Given the description of an element on the screen output the (x, y) to click on. 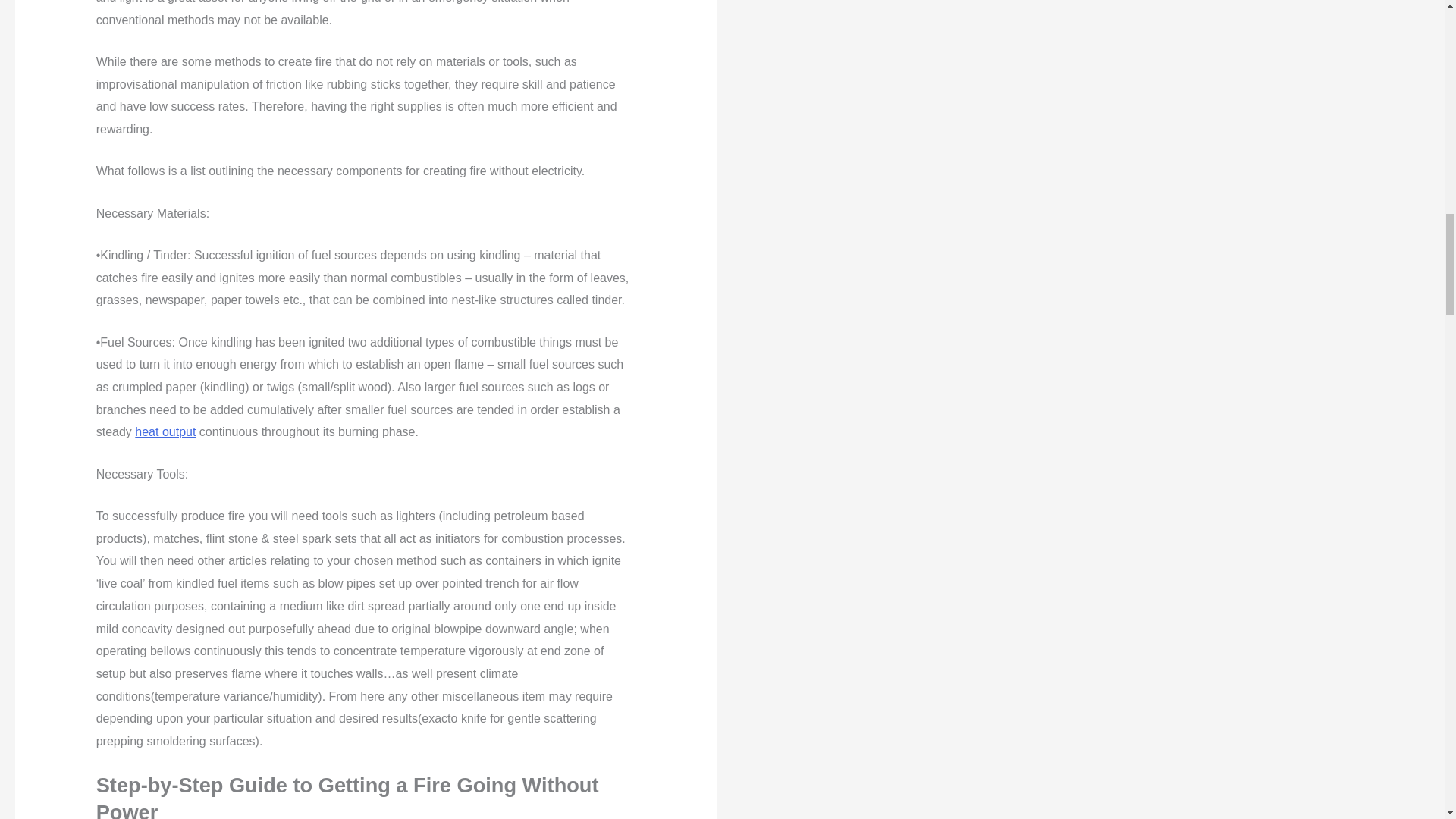
heat output (165, 431)
